Given the description of an element on the screen output the (x, y) to click on. 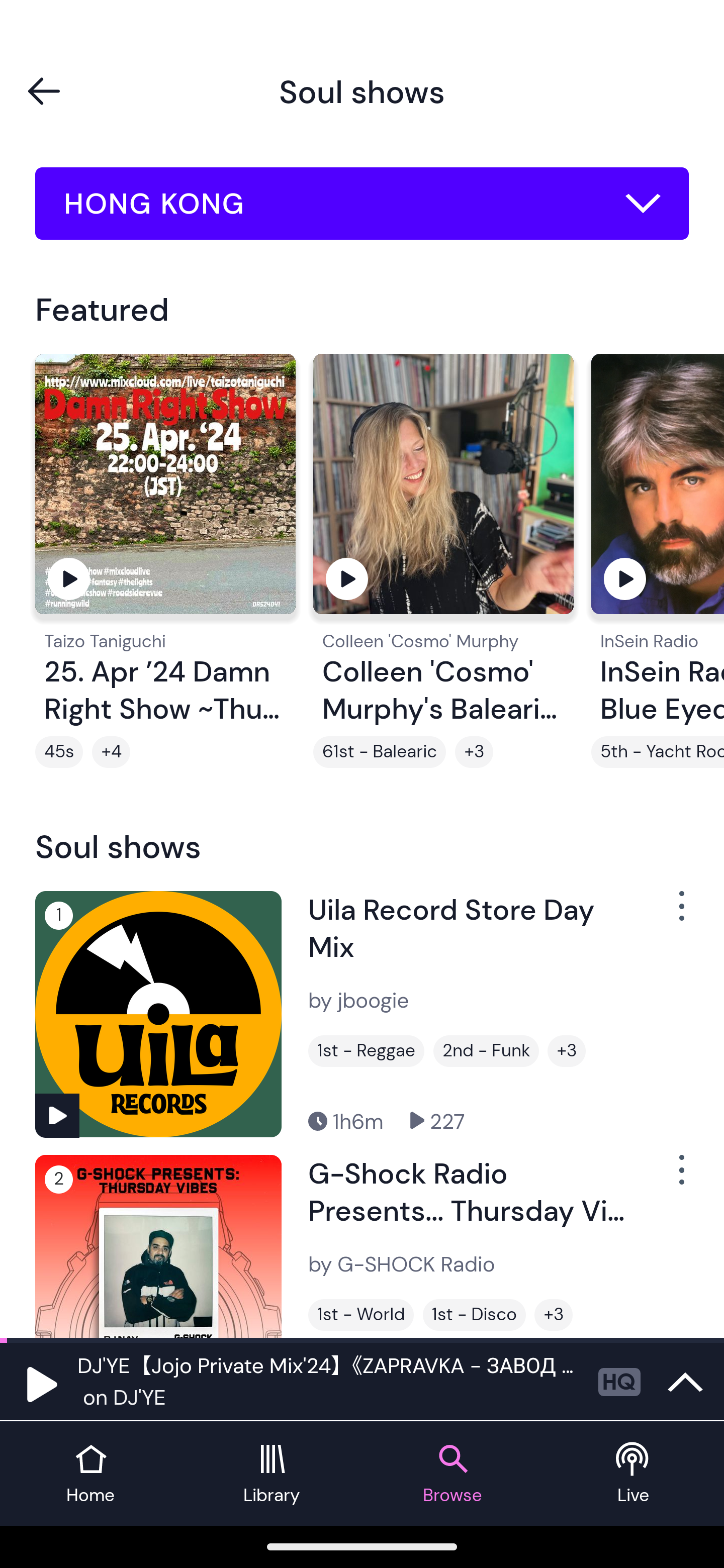
HONG KONG (361, 203)
45s (59, 752)
61st - Balearic (379, 752)
5th - Yacht Rock (657, 752)
Show Options Menu Button (679, 913)
1st - Reggae (366, 1050)
2nd - Funk (485, 1050)
Show Options Menu Button (679, 1178)
1st - World (361, 1315)
1st - Disco (473, 1315)
Home tab Home (90, 1473)
Library tab Library (271, 1473)
Browse tab Browse (452, 1473)
Live tab Live (633, 1473)
